Given the description of an element on the screen output the (x, y) to click on. 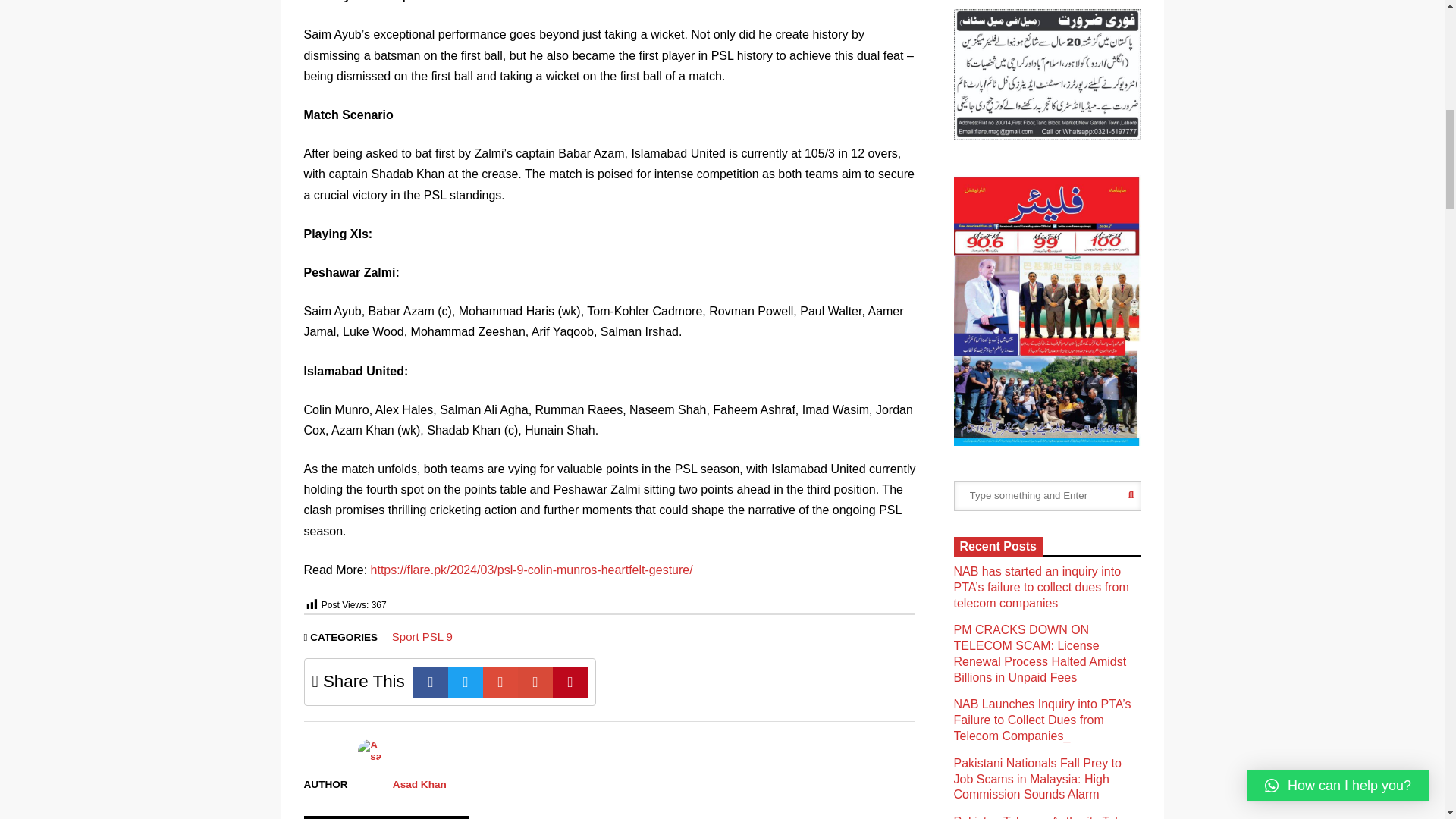
Facebook (430, 681)
Twitter (465, 681)
